Given the description of an element on the screen output the (x, y) to click on. 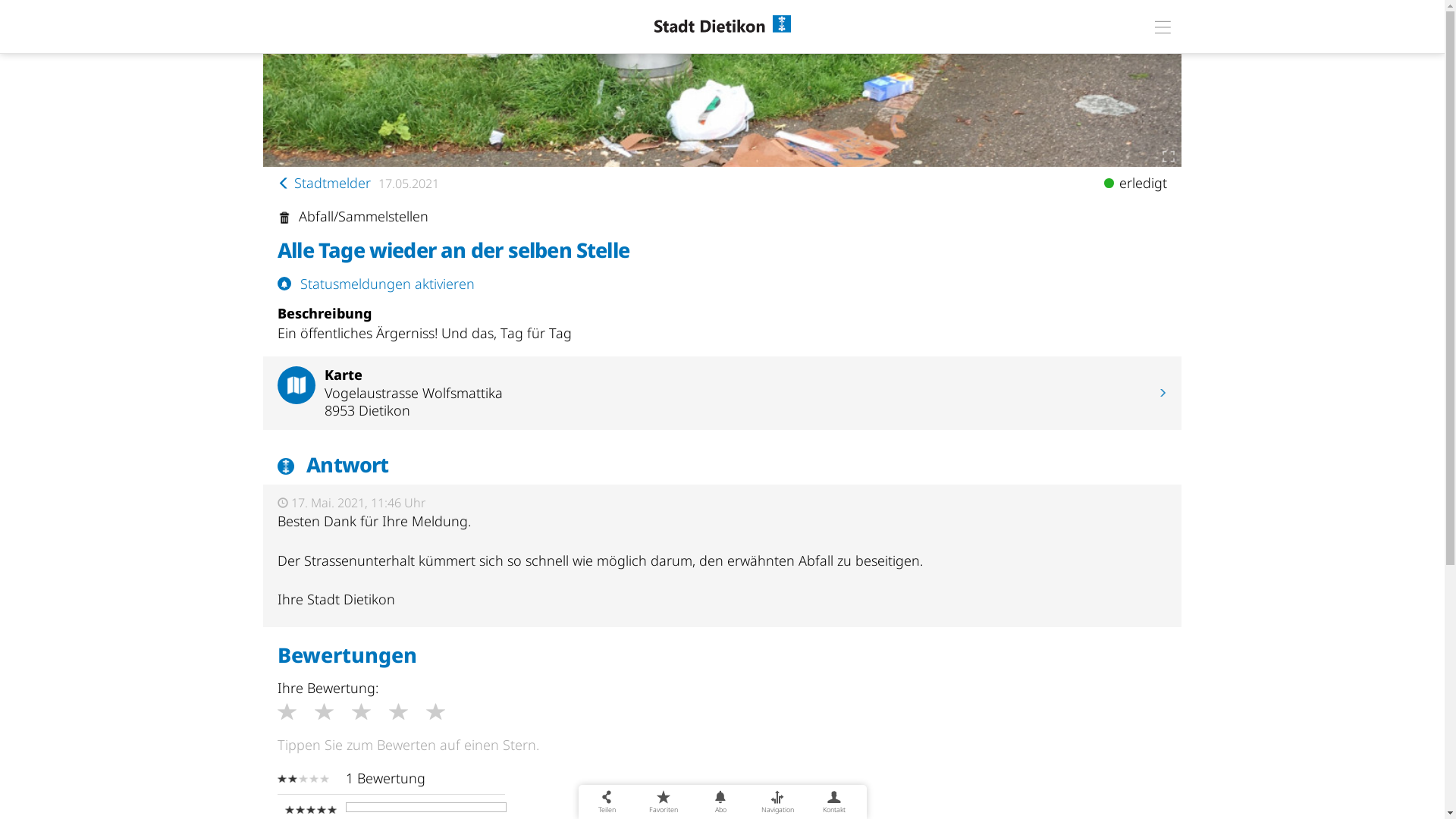
Teilen Element type: text (605, 801)
 Stadtmelder Element type: text (323, 182)
Statusmeldungen aktivieren Element type: text (722, 283)
Durchschnittlich Element type: hover (370, 713)
Abo Element type: text (719, 801)
Navigation anzeigen Element type: hover (1162, 24)
Sehr gut Element type: hover (444, 713)
Navigation Element type: text (777, 801)
Kontakt Element type: text (833, 801)
Sehr schlecht Element type: hover (295, 713)
Favoriten Element type: text (663, 801)
Schlecht Element type: hover (332, 713)
Gut Element type: hover (407, 713)
Karte
Vogelaustrasse Wolfsmattika
8953 Dietikon Element type: text (722, 392)
